Given the description of an element on the screen output the (x, y) to click on. 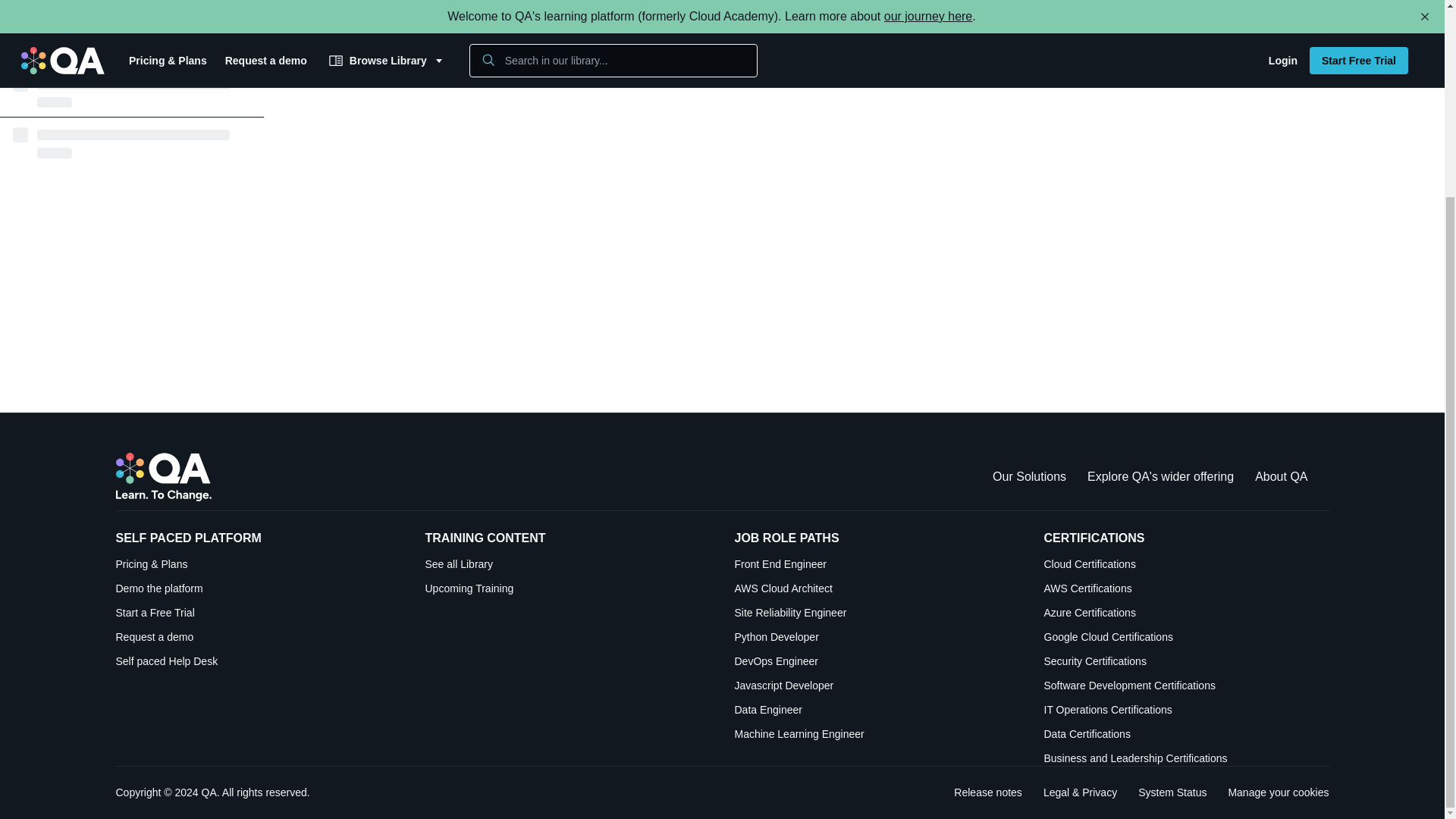
Google Cloud Certifications (1185, 636)
Upcoming Training (567, 588)
Azure Certifications (1185, 612)
Our Solutions (1028, 476)
Javascript Developer (876, 685)
Request a demo (257, 636)
Start a Free Trial (257, 612)
DevOps Engineer (876, 661)
Cloud Certifications (1185, 563)
Data Engineer (876, 709)
See all Library (567, 563)
Site Reliability Engineer (876, 612)
Demo the platform (257, 588)
Machine Learning Engineer (876, 734)
Data Certifications (1185, 734)
